Given the description of an element on the screen output the (x, y) to click on. 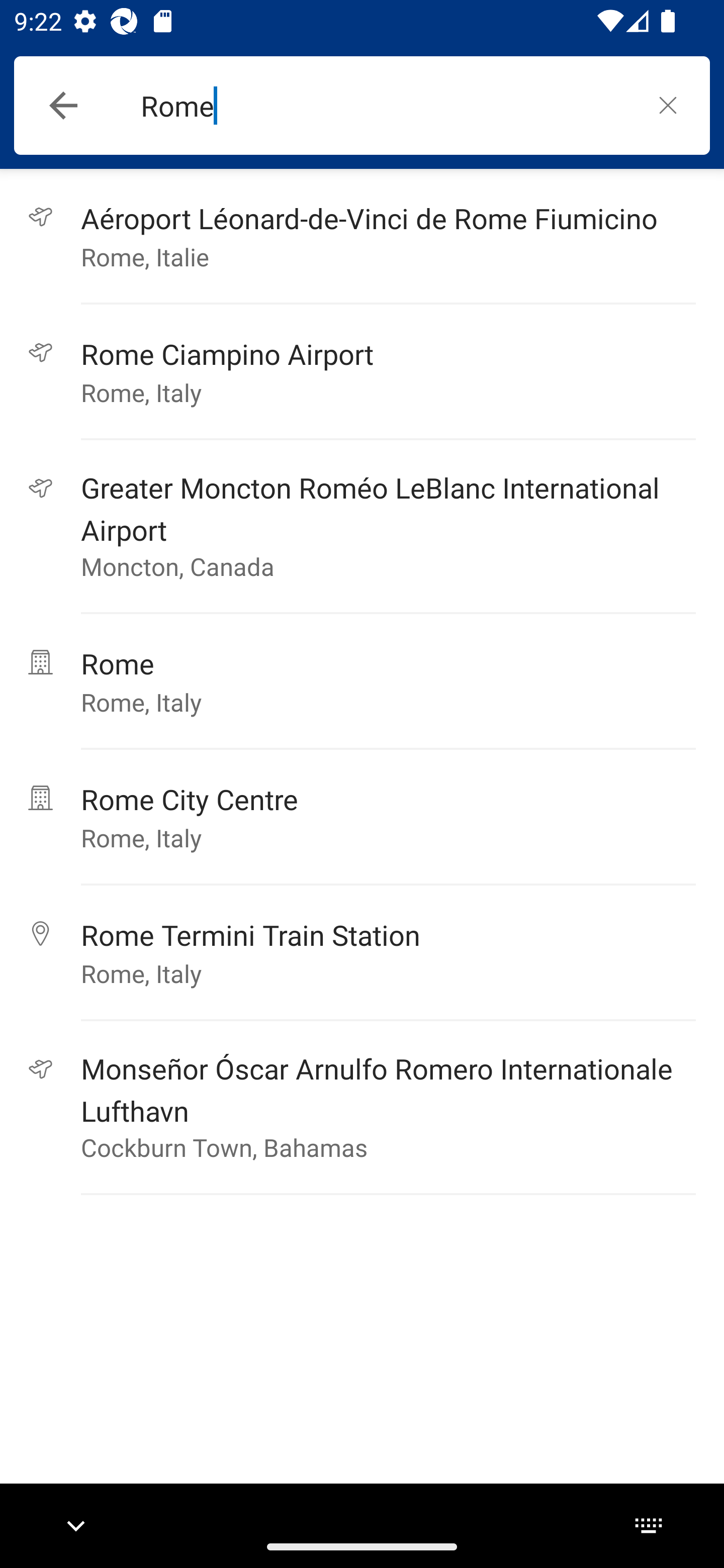
Navigate up (62, 105)
놕 (667, 104)
Rome (382, 105)
끭 Rome Ciampino Airport Rome, Italy (362, 372)
넭 Rome Rome, Italy (362, 681)
넭 Rome City Centre Rome, Italy (362, 817)
낍 Rome Termini Train Station Rome, Italy (362, 952)
